Given the description of an element on the screen output the (x, y) to click on. 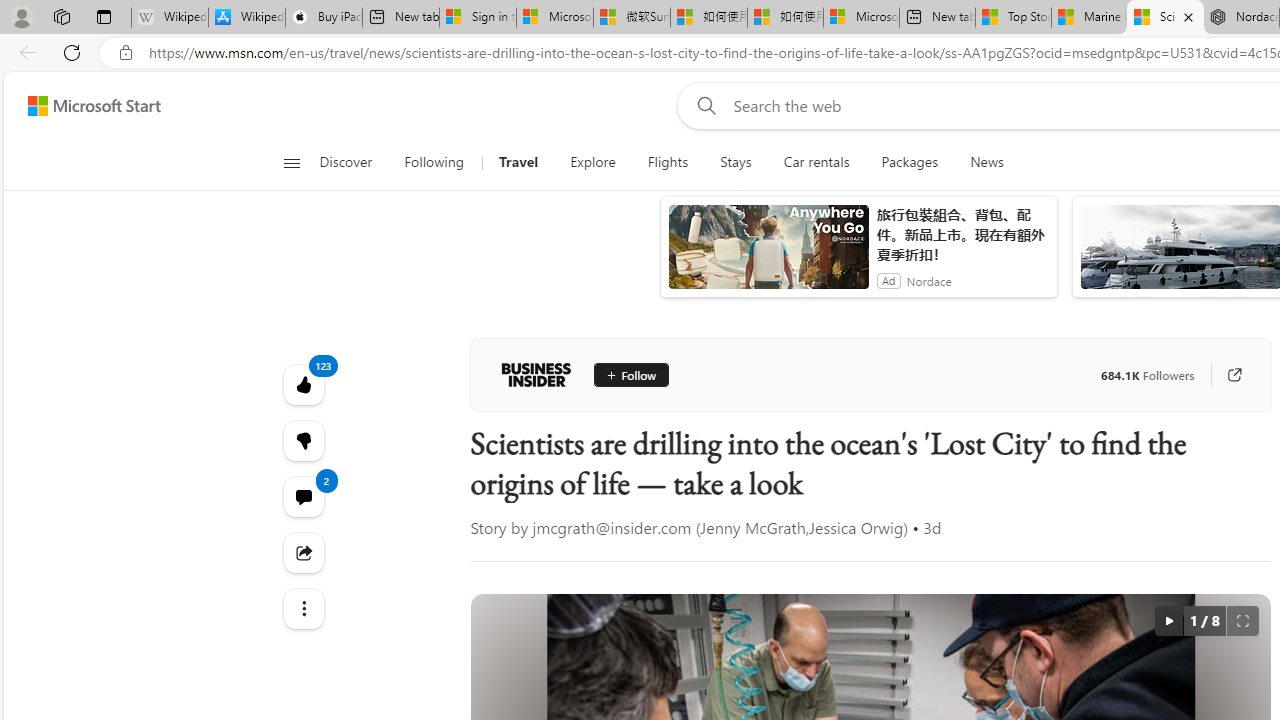
anim-content (768, 255)
Stays (736, 162)
Explore (593, 162)
View comments 2 Comment (302, 496)
Personal Profile (21, 16)
Car rentals (816, 162)
Nordace (929, 280)
Ad (888, 280)
Share this story (302, 552)
Skip to footer (82, 105)
Dislike (302, 440)
Microsoft Start (94, 105)
View site information (125, 53)
Full screen (1242, 620)
